Given the description of an element on the screen output the (x, y) to click on. 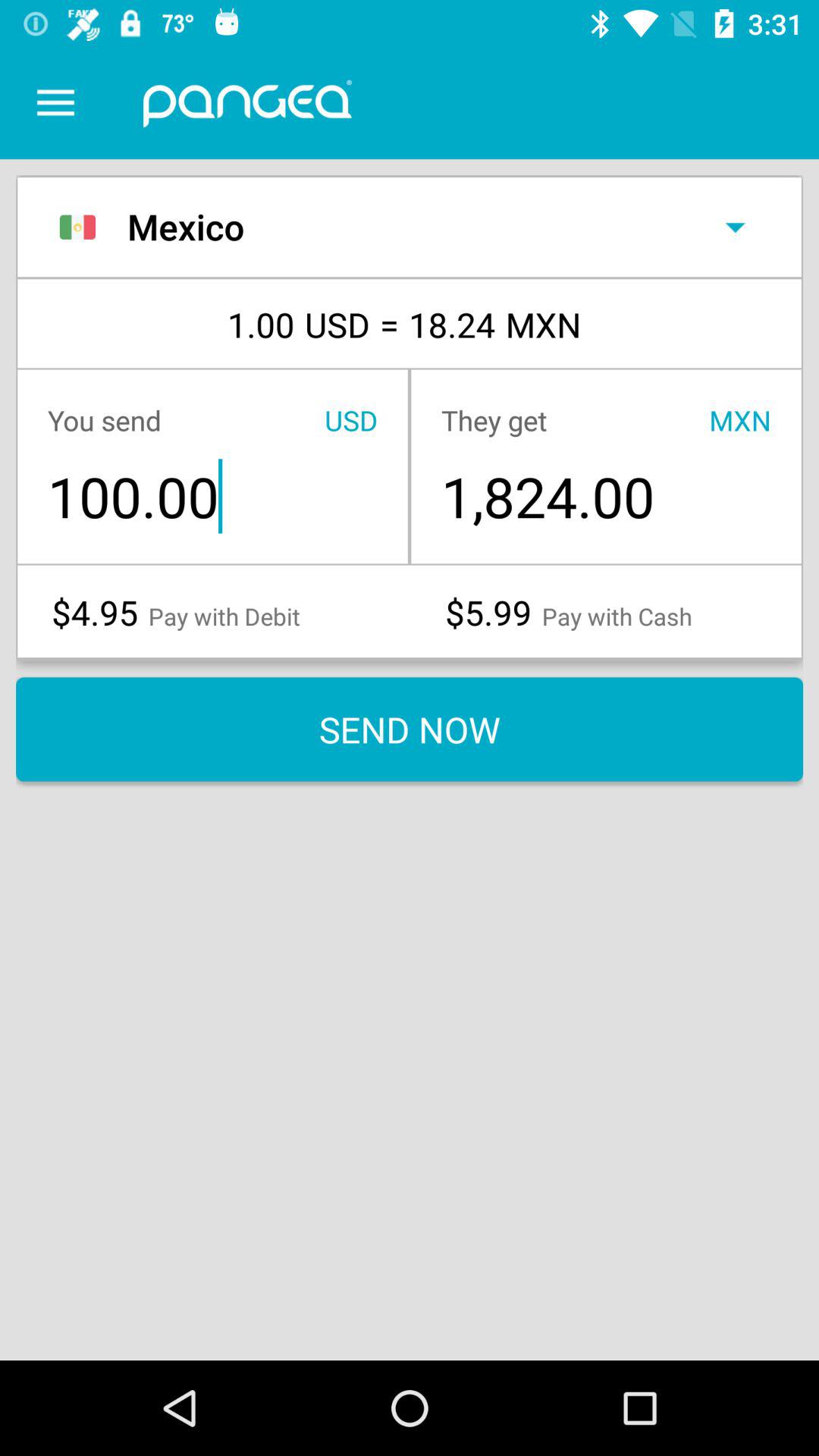
turn on the 1,824.00 item (606, 495)
